Given the description of an element on the screen output the (x, y) to click on. 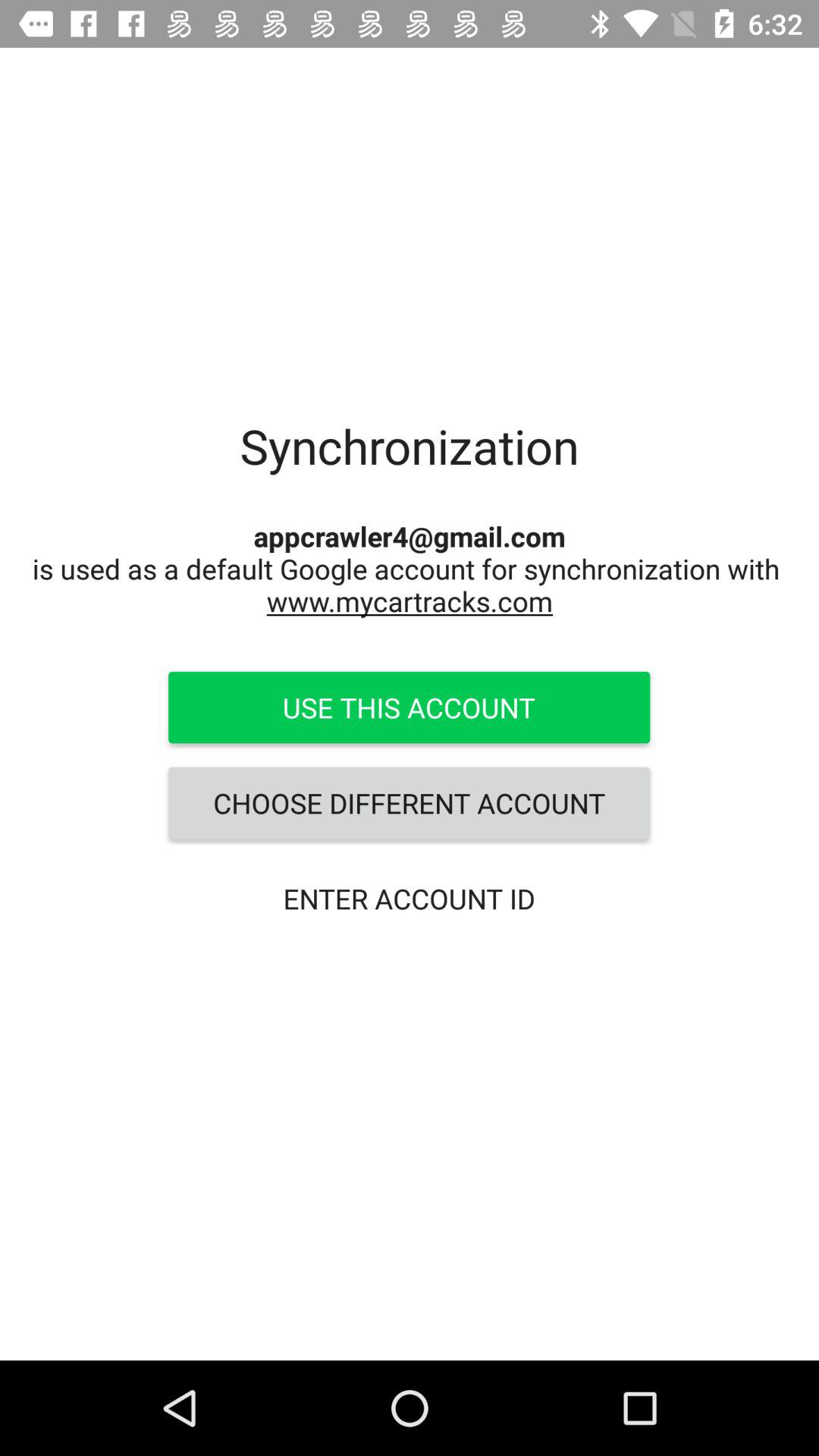
select the icon below the use this account icon (409, 802)
